Given the description of an element on the screen output the (x, y) to click on. 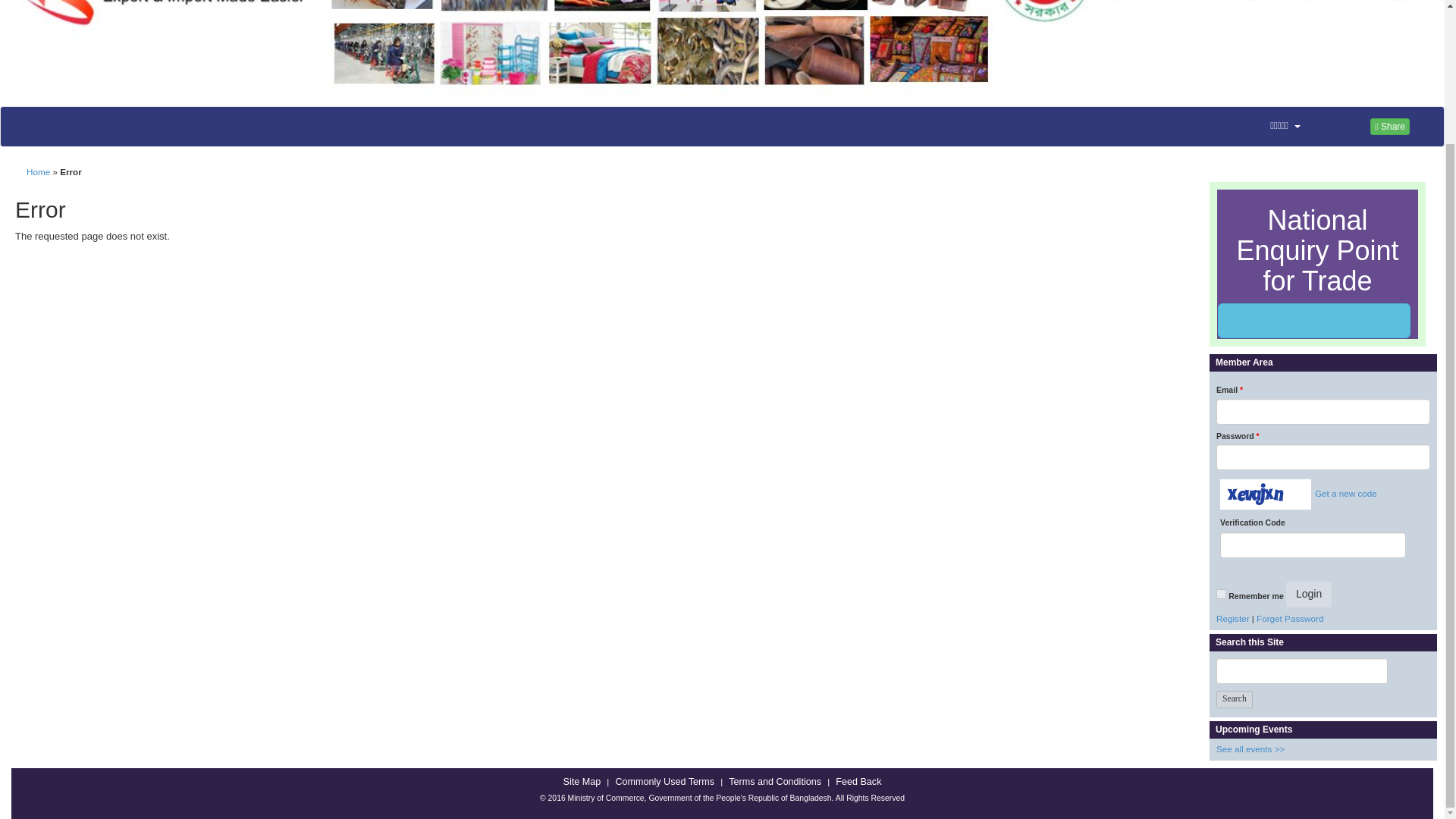
Feed Back (858, 782)
Forget Password (1289, 618)
Site Map (582, 782)
1 (1220, 593)
Click here to submit query (1313, 320)
Home (37, 171)
Get a new code (1344, 492)
Search (1233, 699)
Search (1233, 699)
Commonly Used Terms (664, 782)
Register (1232, 618)
Login (1308, 594)
Login (1308, 594)
Terms and Conditions (775, 782)
Share (1389, 126)
